Given the description of an element on the screen output the (x, y) to click on. 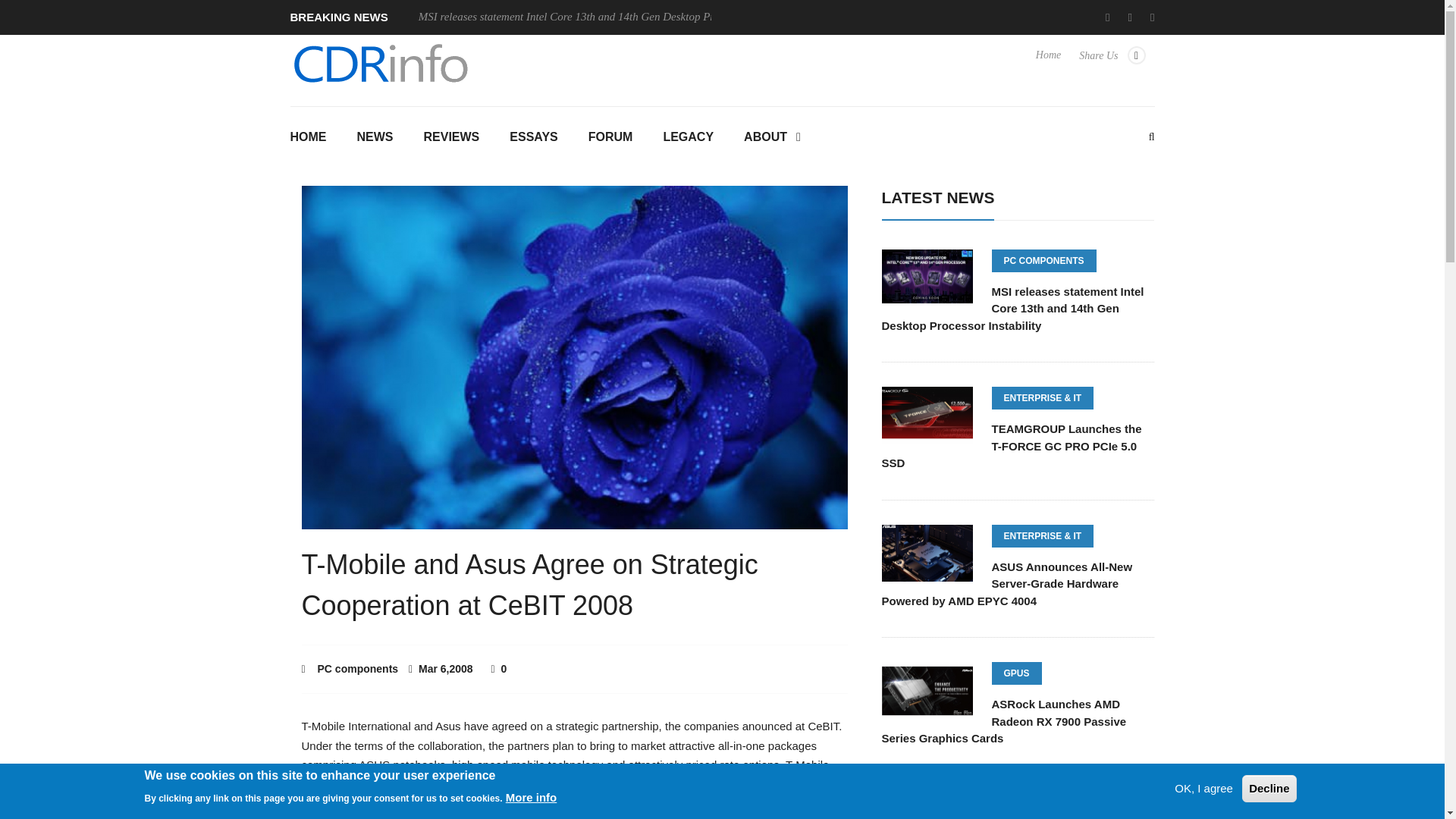
LEGACY (688, 138)
REVIEWS (451, 138)
Search (722, 271)
ESSAYS (533, 138)
Mar 6,2008 (442, 668)
ABOUT (772, 138)
FORUM (610, 138)
0 (499, 668)
NEWS (373, 138)
PC components (357, 668)
Home (1048, 62)
Share Us (1112, 62)
